Given the description of an element on the screen output the (x, y) to click on. 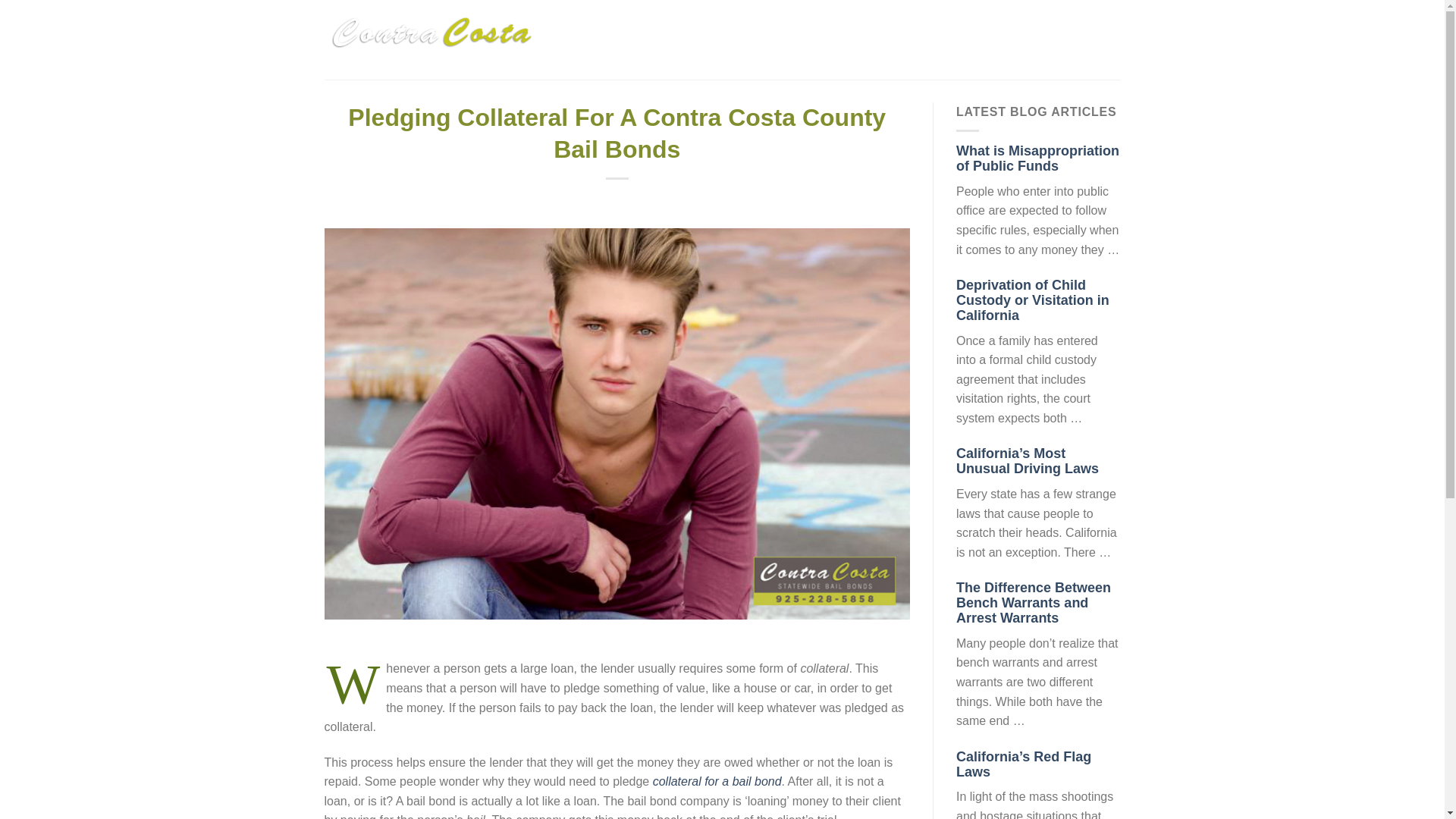
Contra Costa County Bail Bonds - Martinez Bail Bonds (432, 39)
REVIEWS (915, 39)
Deprivation of Child Custody or Visitation in California (1032, 299)
What is Misappropriation of Public Funds (1037, 158)
collateral for a bail bond (716, 780)
CONTACT US (1082, 39)
HOME (661, 39)
HOW BAIL WORKS (821, 39)
ABOUT US (724, 39)
BLOG (1014, 39)
